Given the description of an element on the screen output the (x, y) to click on. 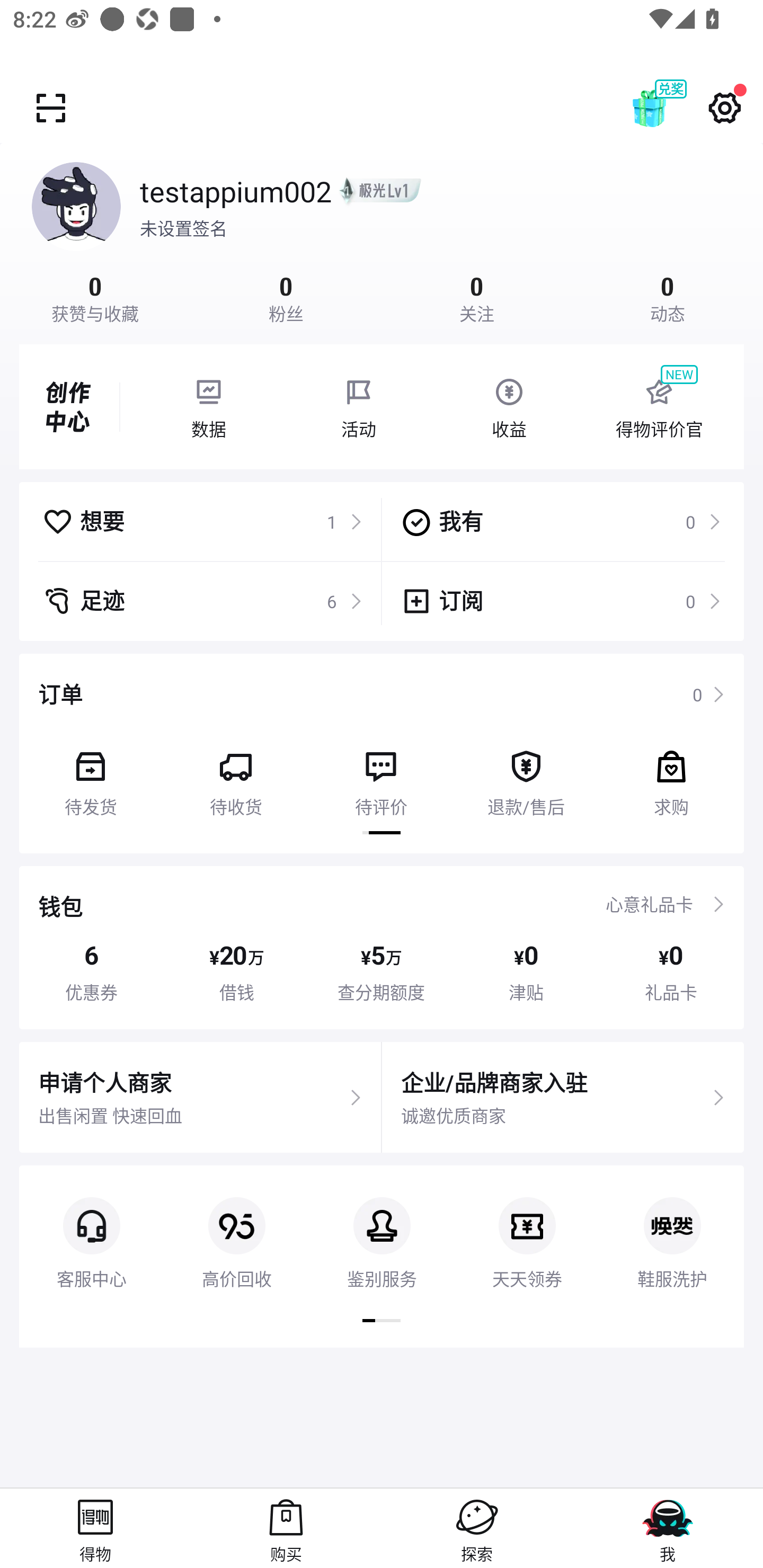
兑奖 (667, 107)
testappium002 未设置签名 0 获赞与收藏 0 粉丝 0 关注 0 动态 (381, 233)
0 获赞与收藏 (95, 296)
0 粉丝 (285, 296)
0 关注 (476, 296)
0 动态 (667, 296)
数据 (208, 406)
活动 (358, 406)
收益 (508, 406)
NEW 得物评价官 (658, 406)
想要 1 (201, 521)
我有 0 (560, 521)
足迹 6 (201, 601)
订阅 0 (560, 601)
订单 0 待发货 待收货 待评价 退款/售后 求购 (381, 752)
待发货 (91, 776)
待收货 (235, 776)
待评价 (380, 776)
退款/售后 (525, 776)
求购 (670, 776)
心意礼品卡 (648, 903)
6 优惠券 (91, 971)
¥ 20 万 借钱 (236, 971)
¥ 5 万 查分期额度 (381, 971)
¥ 0 津贴 (525, 971)
¥ 0 礼品卡 (670, 971)
申请个人商家 出售闲置 快速回血 (199, 1097)
企业/品牌商家入驻 诚邀优质商家 (562, 1097)
客服中心 (91, 1227)
高价回收 (236, 1227)
鉴别服务 (381, 1227)
天天领券 (526, 1227)
鞋服洗护 (671, 1227)
得物 (95, 1528)
购买 (285, 1528)
探索 (476, 1528)
我 (667, 1528)
